Given the description of an element on the screen output the (x, y) to click on. 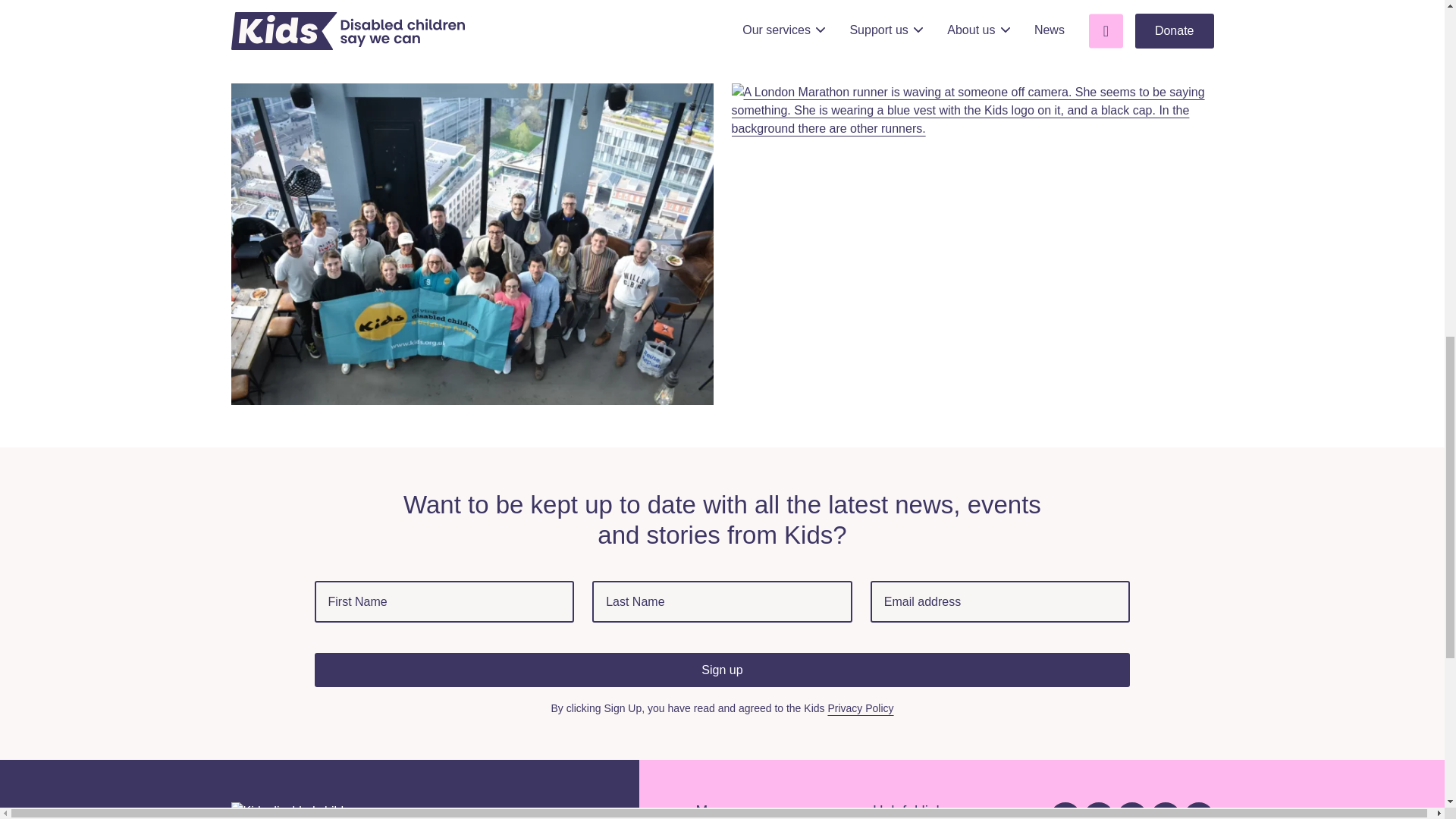
Sign up (721, 669)
